Given the description of an element on the screen output the (x, y) to click on. 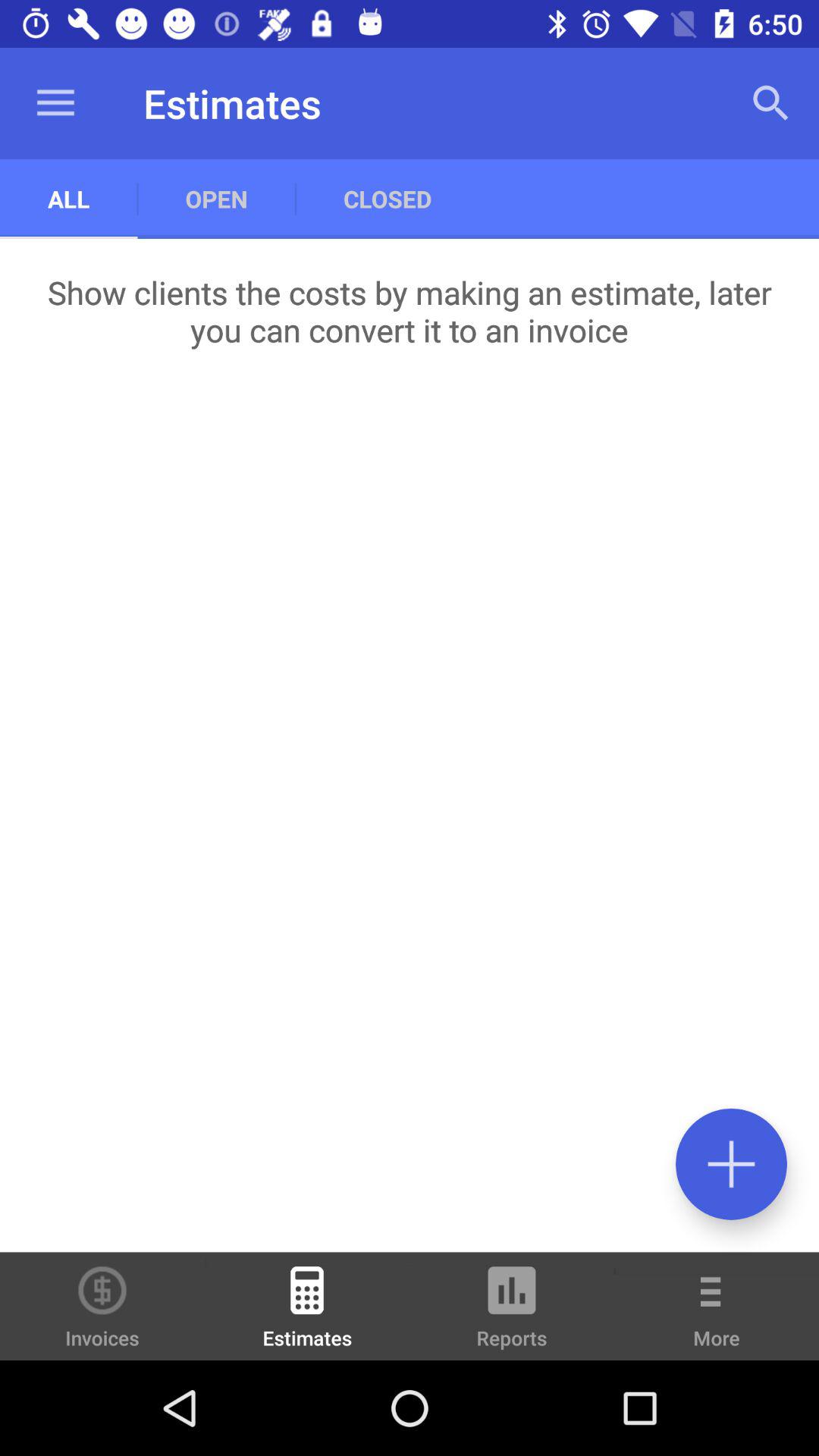
turn on icon to the left of estimates icon (102, 1306)
